Given the description of an element on the screen output the (x, y) to click on. 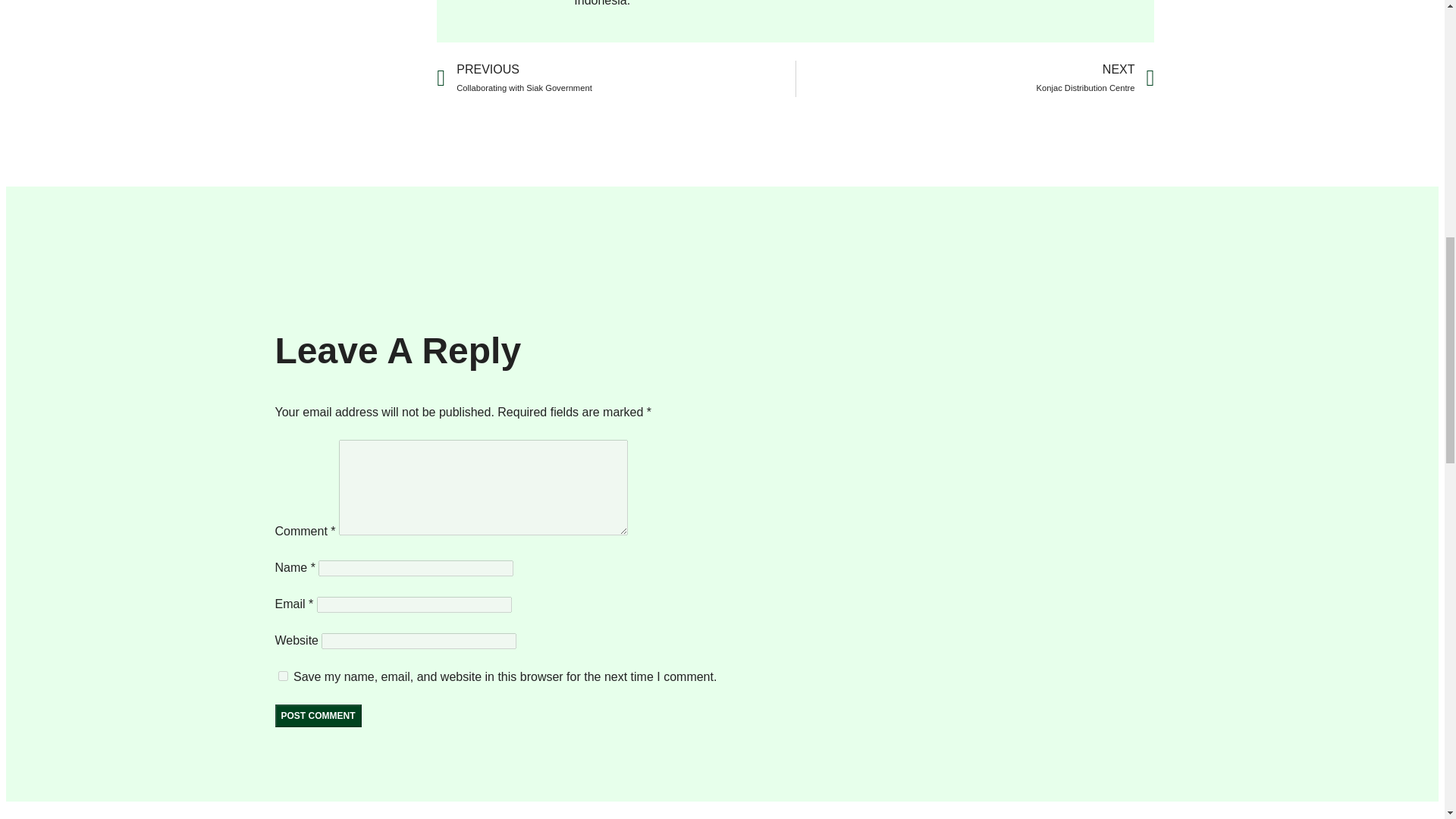
yes (282, 675)
Post Comment (615, 78)
